Given the description of an element on the screen output the (x, y) to click on. 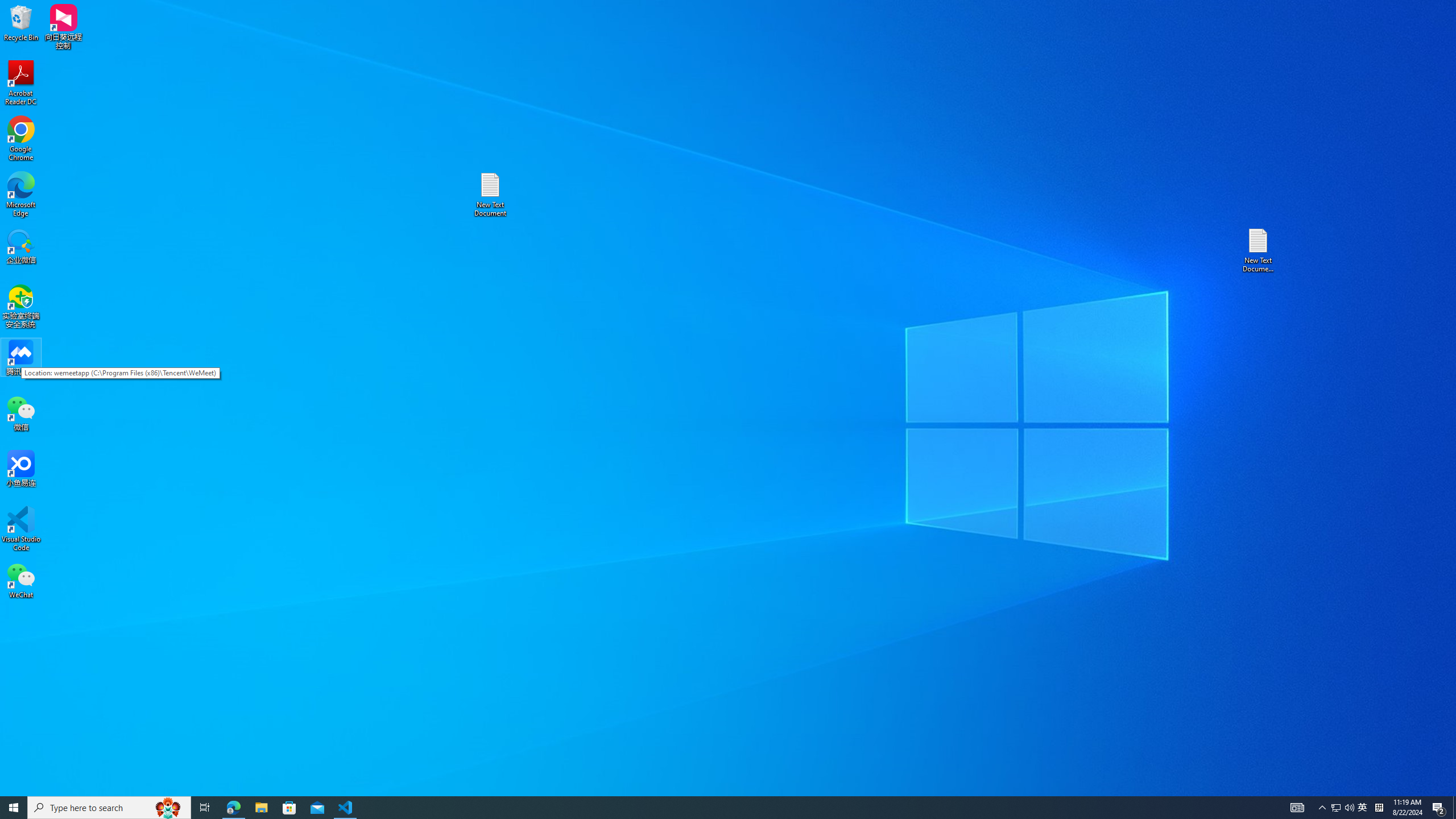
Show desktop (1454, 807)
Microsoft Edge (21, 194)
User Promoted Notification Area (1342, 807)
Notification Chevron (1322, 807)
Microsoft Store (289, 807)
Q2790: 100% (1349, 807)
Task View (204, 807)
Visual Studio Code - 1 running window (345, 807)
Visual Studio Code (21, 528)
Tray Input Indicator - Chinese (Simplified, China) (1378, 807)
New Text Document (489, 194)
